Given the description of an element on the screen output the (x, y) to click on. 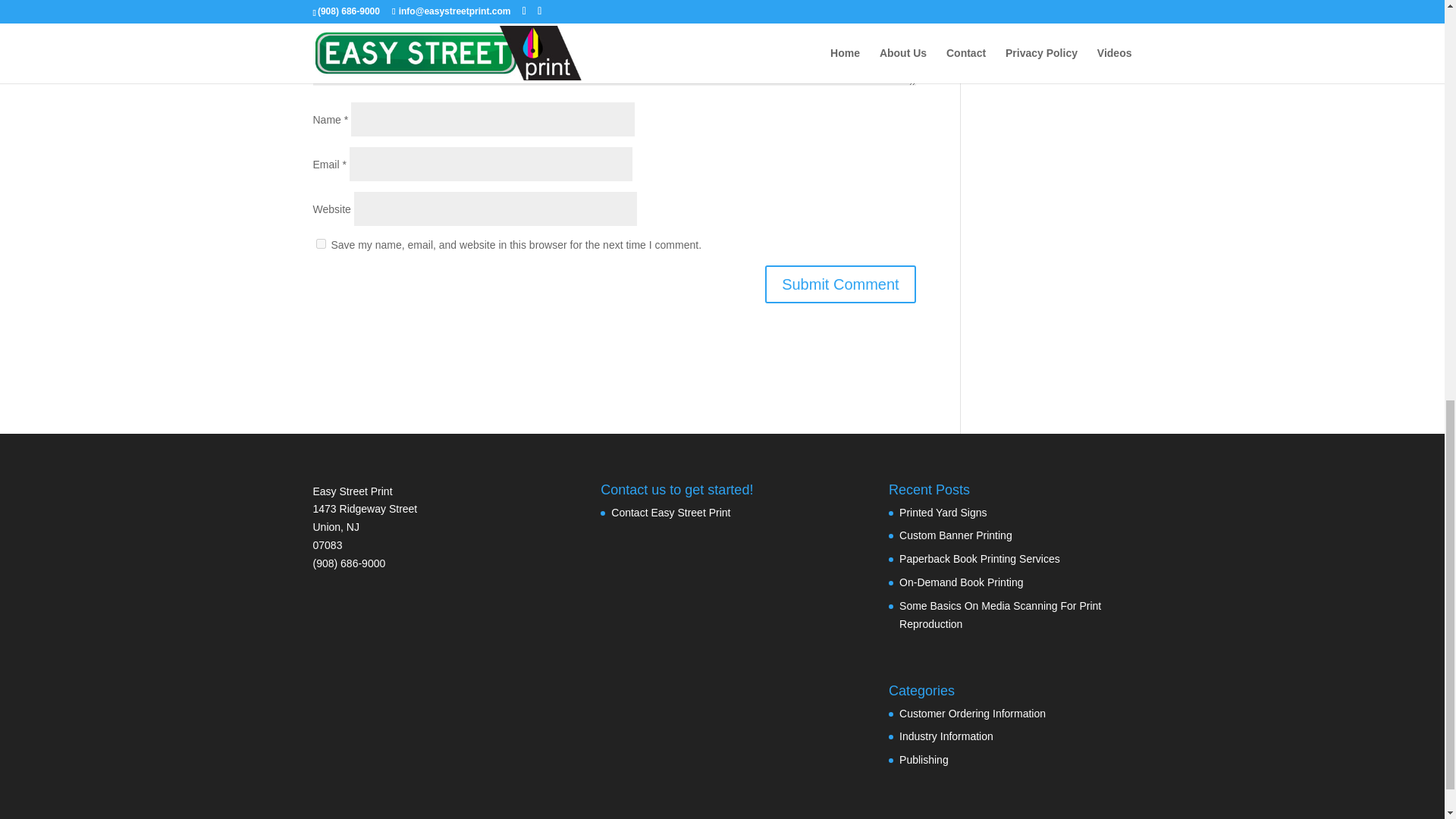
Submit Comment (840, 284)
Submit Comment (840, 284)
yes (319, 243)
On-Demand Book Printing (961, 582)
Custom Banner Printing (955, 535)
Printed Yard Signs (943, 512)
Paperback Book Printing Services (979, 558)
Industry Information (945, 736)
Contact Easy Street Print (670, 512)
Some Basics On Media Scanning For Print Reproduction (999, 614)
